Given the description of an element on the screen output the (x, y) to click on. 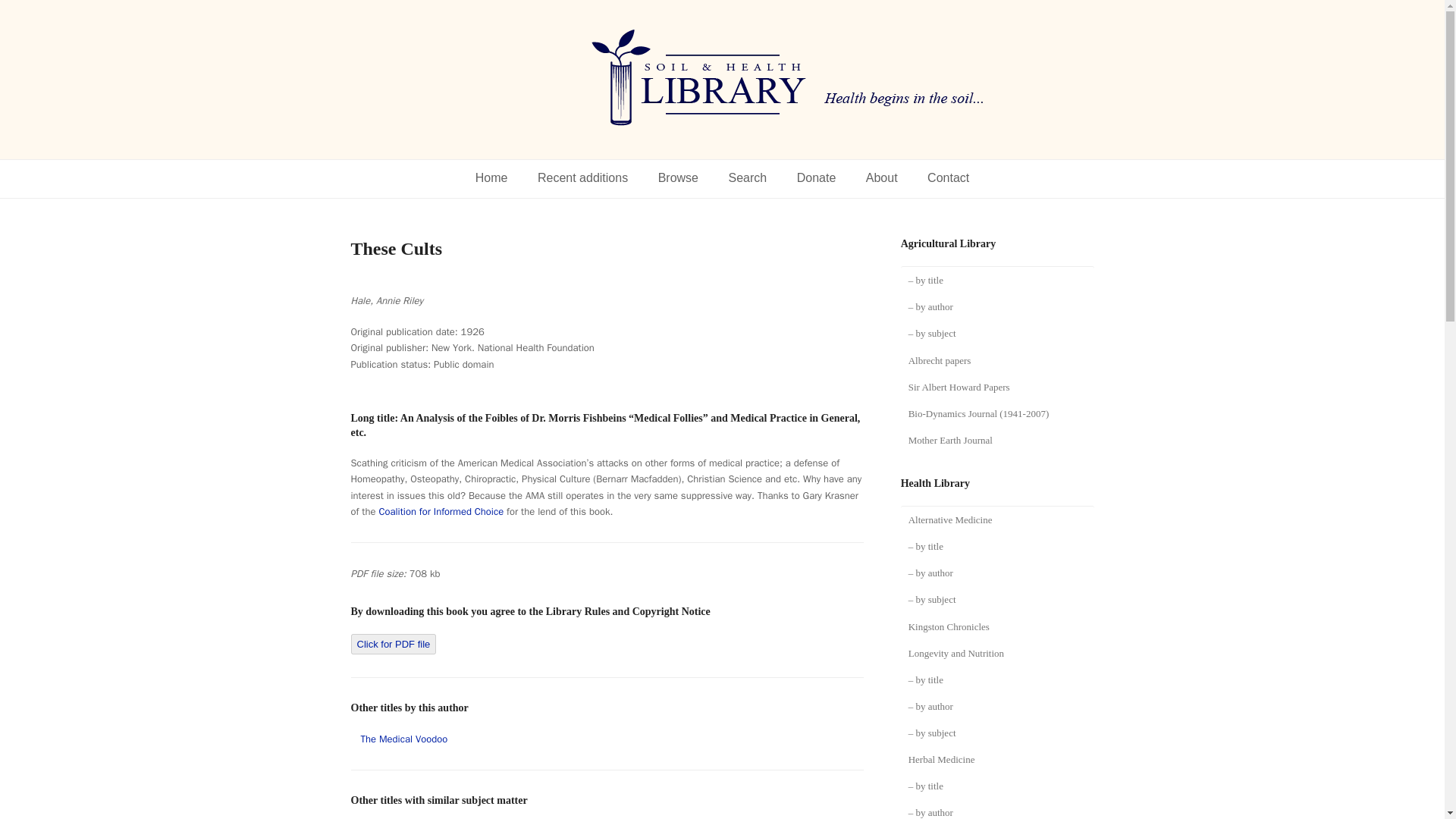
Recent additions (583, 178)
Click for PDF file (392, 644)
Home (491, 178)
Browse (678, 178)
